Given the description of an element on the screen output the (x, y) to click on. 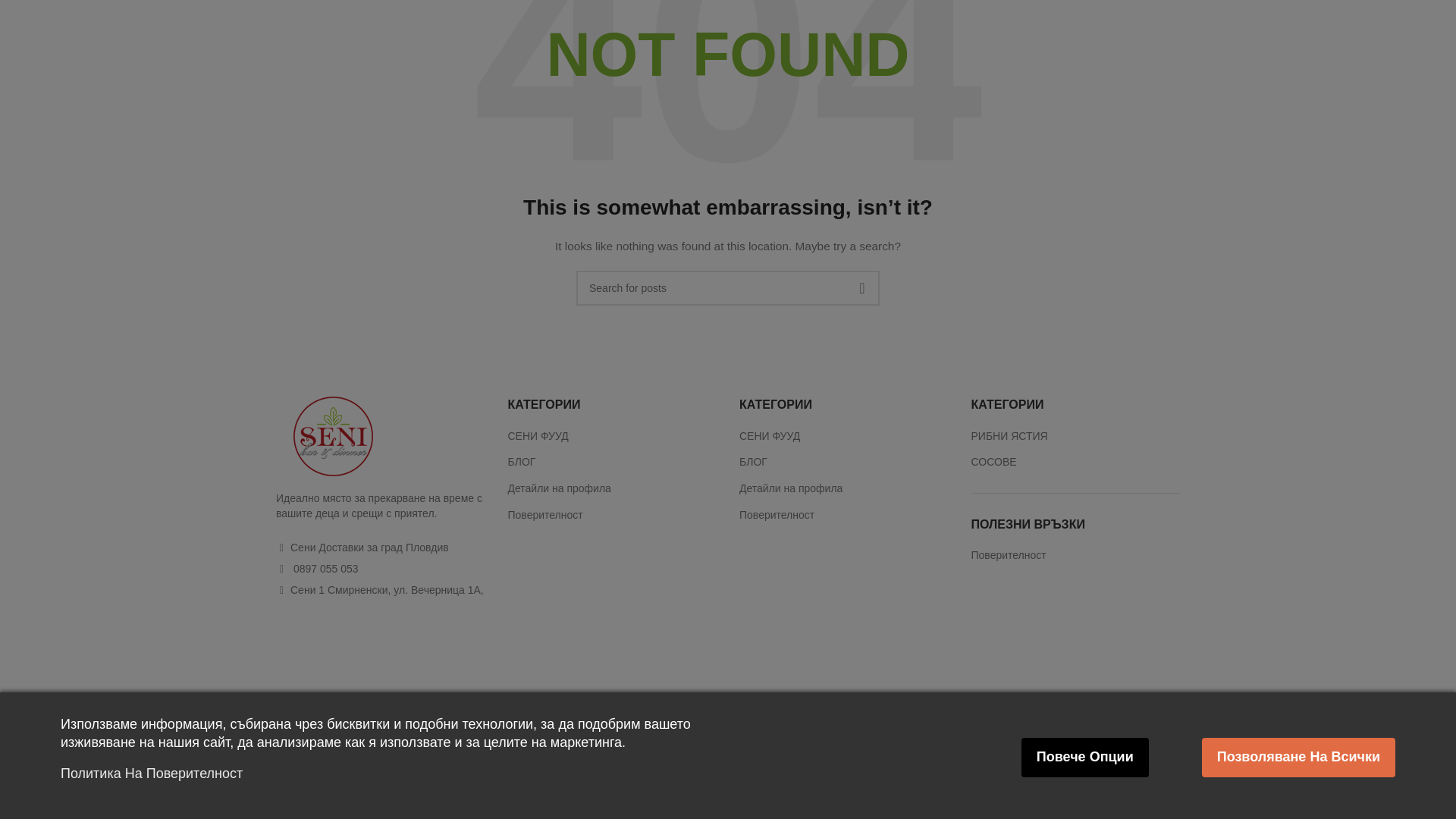
Search for posts (727, 288)
